Given the description of an element on the screen output the (x, y) to click on. 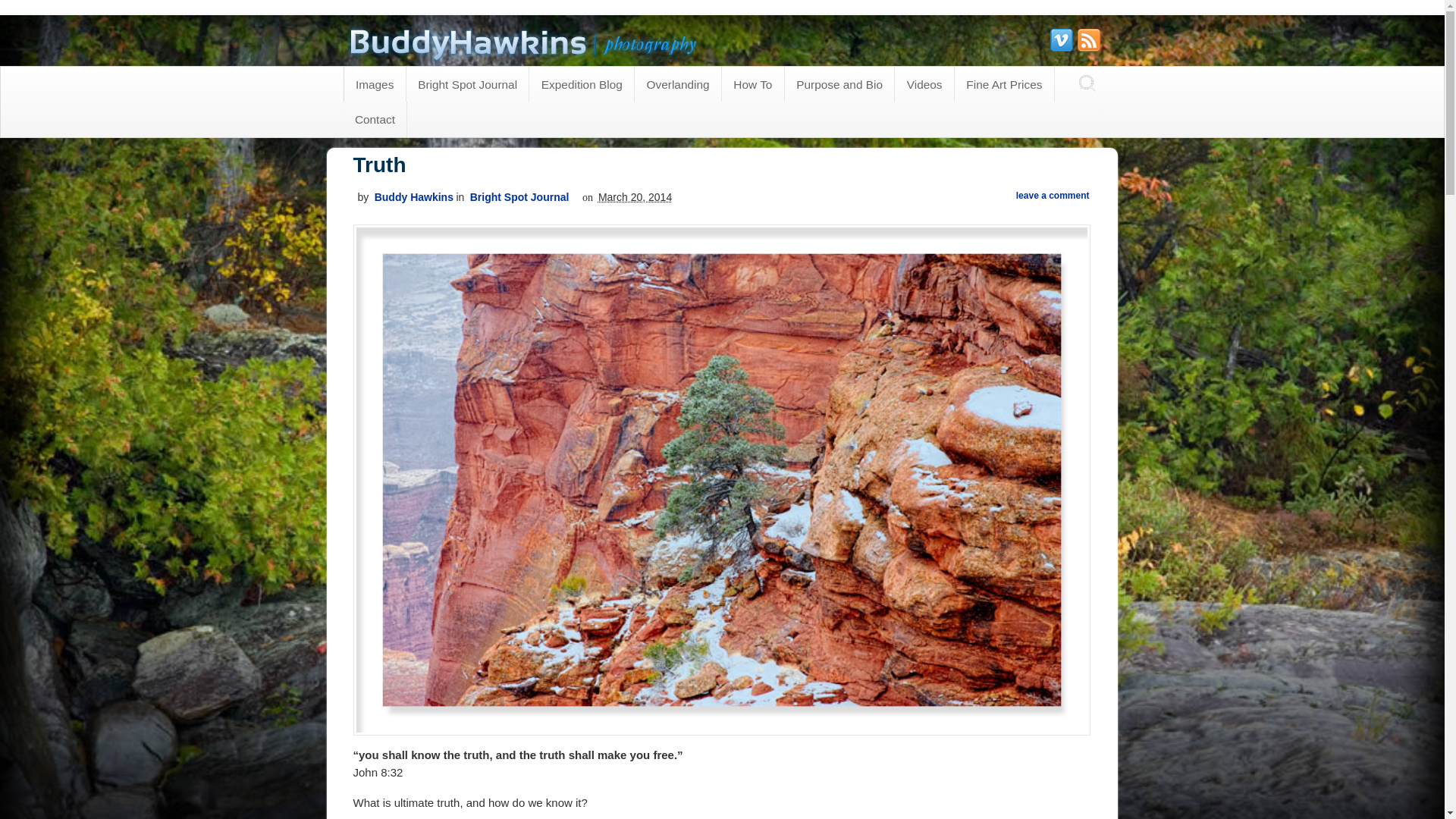
Fine Art Prices (1004, 83)
Posts by Buddy Hawkins (413, 196)
Unique Cards and Prints (524, 55)
Bright Spot Journal (519, 196)
How To (753, 83)
leave a comment (1052, 195)
Buddy Hawkins (413, 196)
RSS (1087, 39)
Purpose and Bio (839, 83)
Expedition Blog (581, 83)
Images (374, 83)
Bright Spot Journal (467, 83)
Videos (924, 83)
Vimeo (1060, 39)
Search (24, 9)
